Given the description of an element on the screen output the (x, y) to click on. 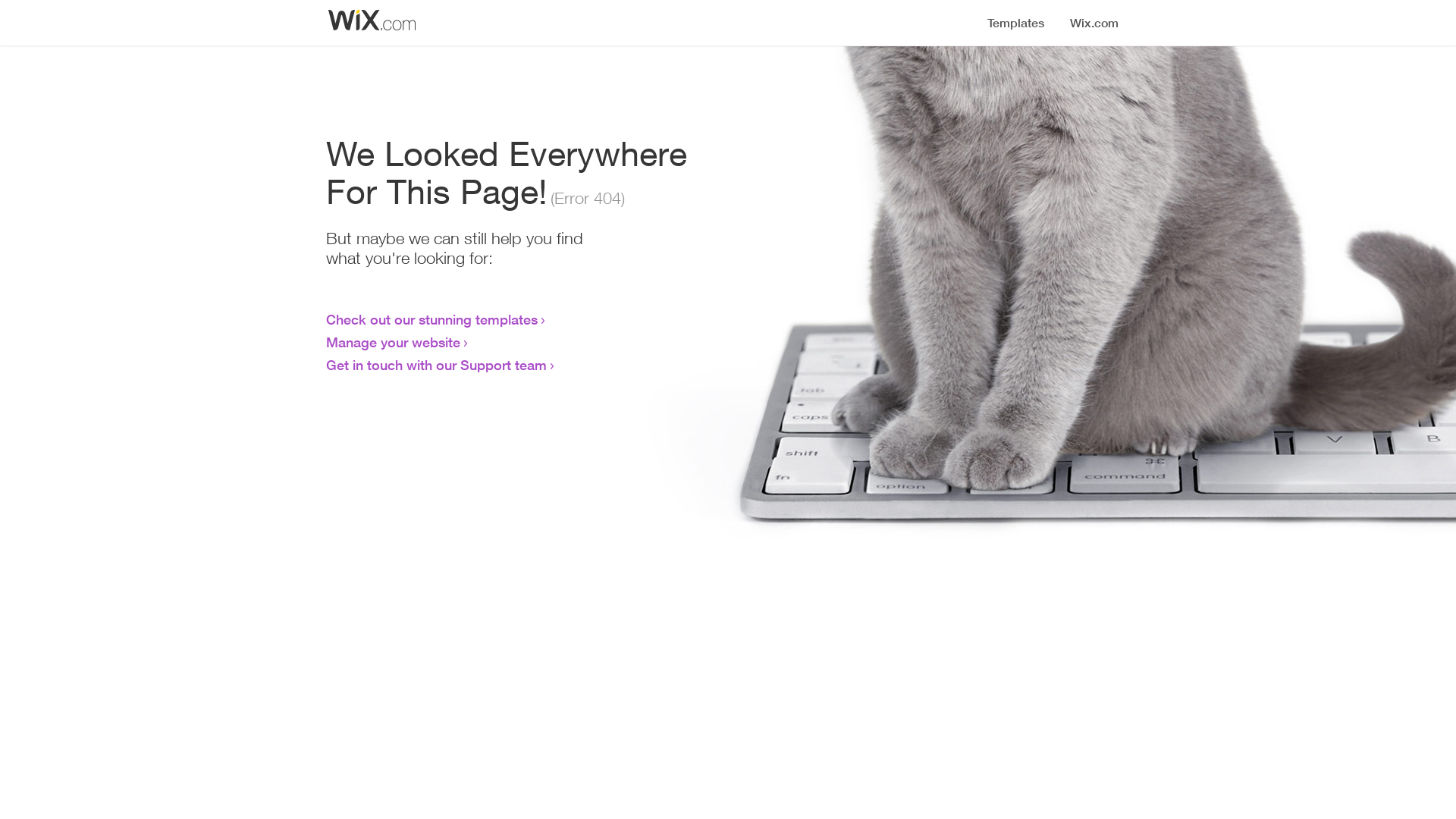
Check out our stunning templates Element type: text (431, 318)
Manage your website Element type: text (393, 341)
Get in touch with our Support team Element type: text (436, 364)
